Given the description of an element on the screen output the (x, y) to click on. 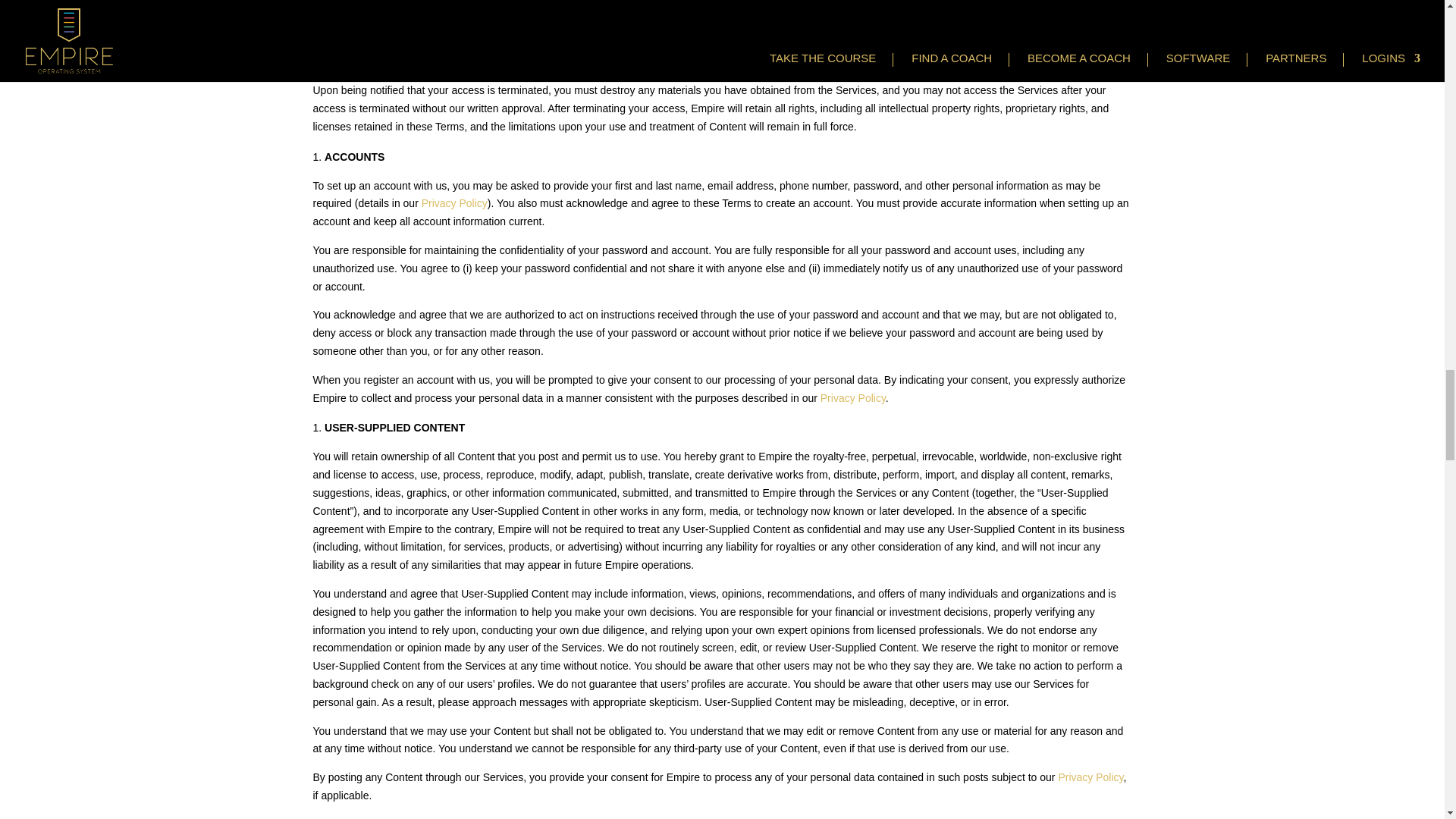
Privacy Policy (1090, 776)
Privacy Policy (454, 203)
Privacy Policy (853, 398)
